Given the description of an element on the screen output the (x, y) to click on. 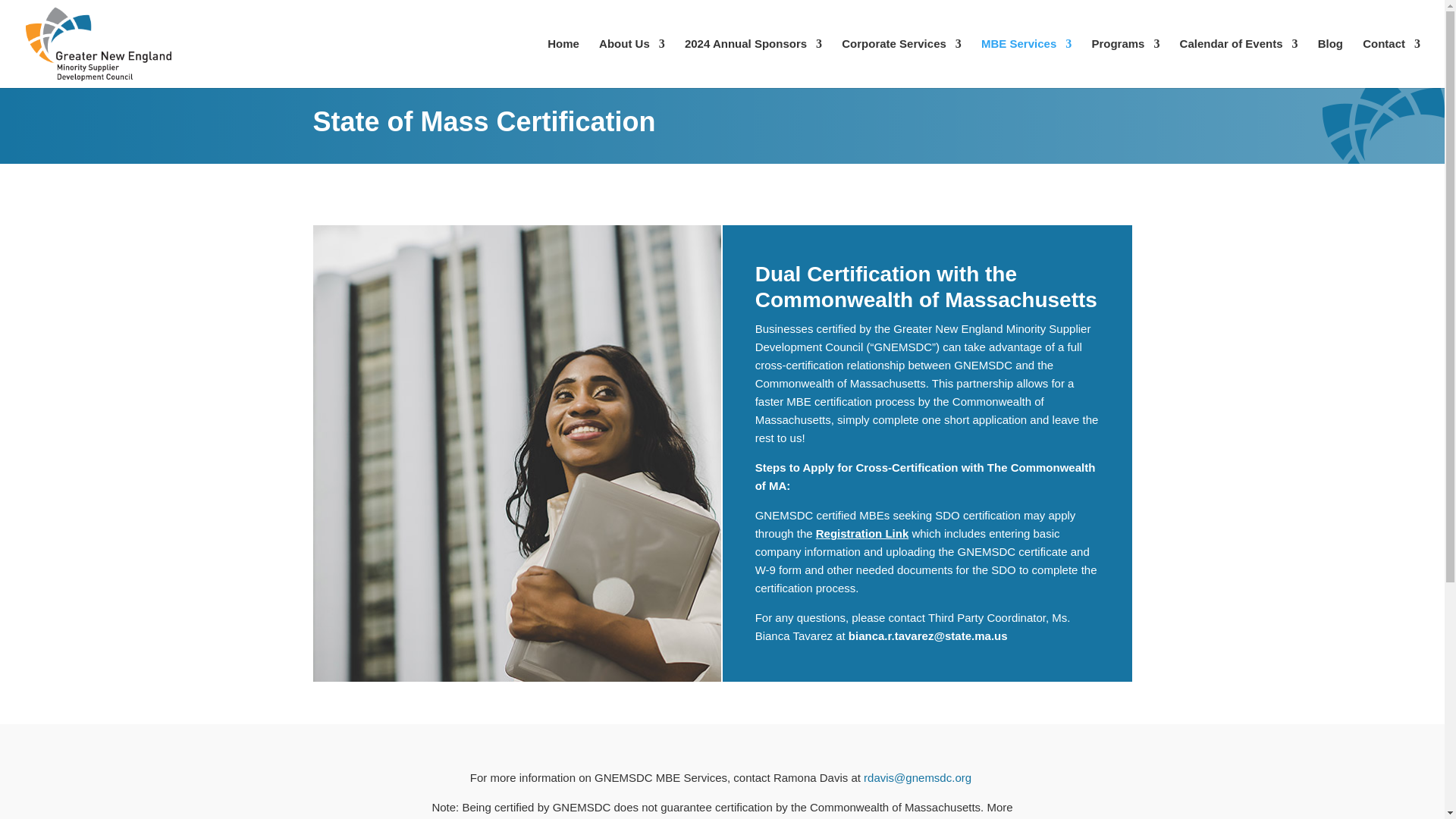
Calendar of Events (1238, 62)
Programs (1124, 62)
About Us (631, 62)
Corporate Services (900, 62)
2024 Annual Sponsors (753, 62)
MBE Services (1026, 62)
